Given the description of an element on the screen output the (x, y) to click on. 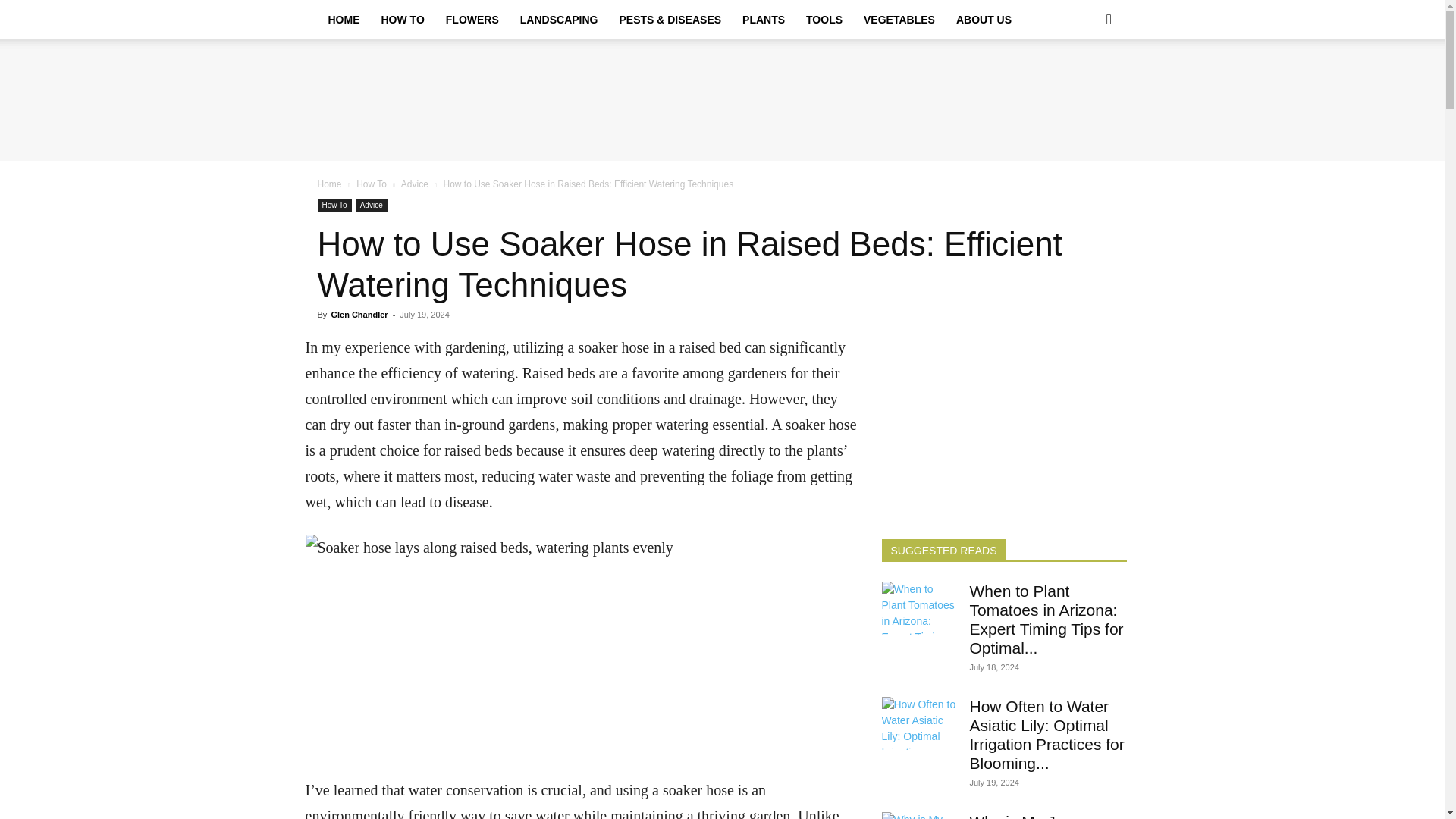
View all posts in How To (371, 184)
View all posts in Advice (414, 184)
